Given the description of an element on the screen output the (x, y) to click on. 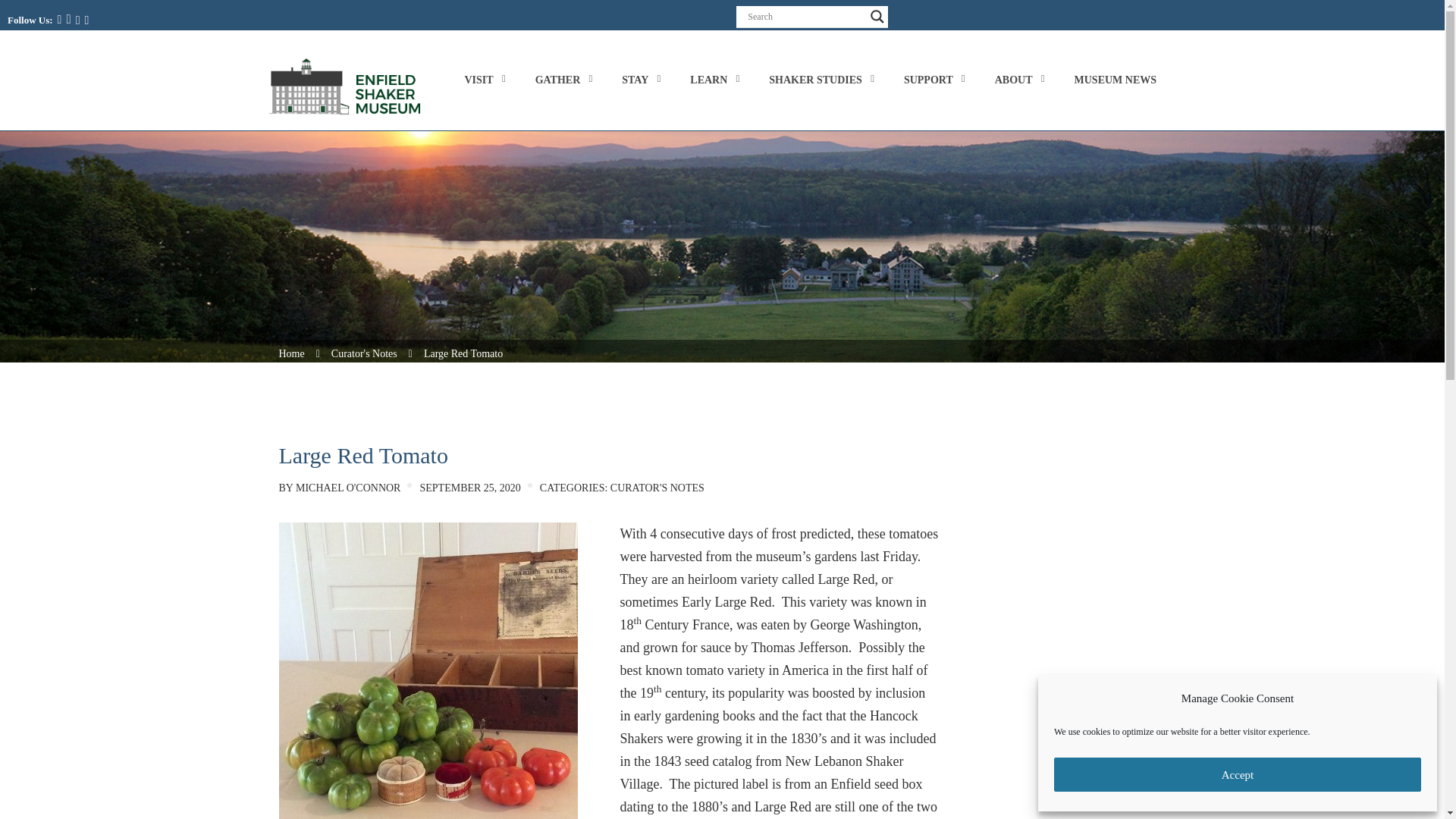
Accept (1237, 774)
Large Red Tomato (462, 353)
Large Red Shaker Tomatoes (428, 670)
Home (291, 353)
Curator's Notes (364, 353)
